Given the description of an element on the screen output the (x, y) to click on. 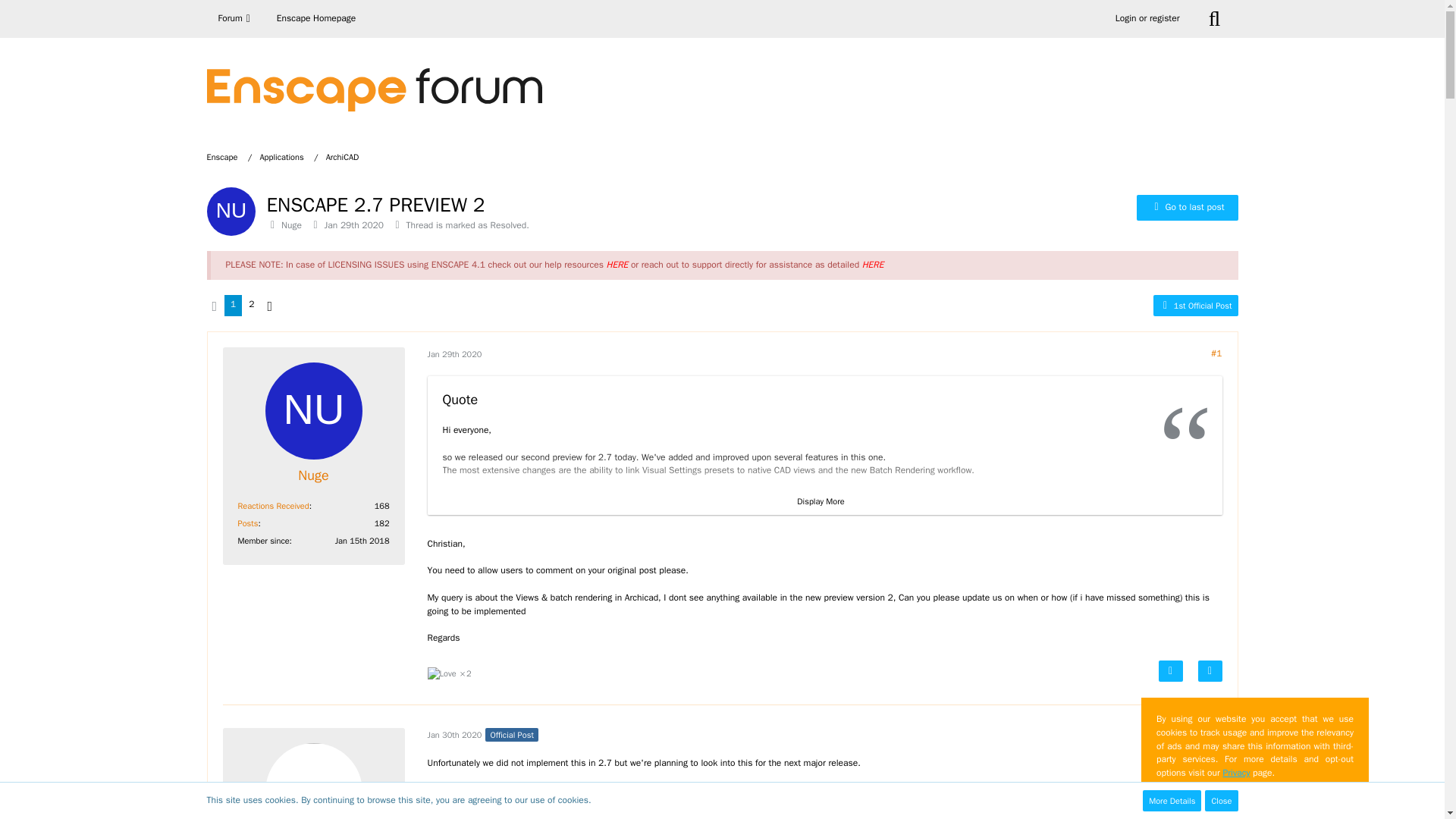
Posts (248, 522)
Nuge (313, 475)
Enscape Homepage (315, 18)
Applications (288, 156)
Jump to last post (1188, 207)
HERE (872, 264)
Login or register (1147, 18)
Go to last post (1188, 207)
Jan 29th 2020 (354, 224)
Applications (280, 156)
